Given the description of an element on the screen output the (x, y) to click on. 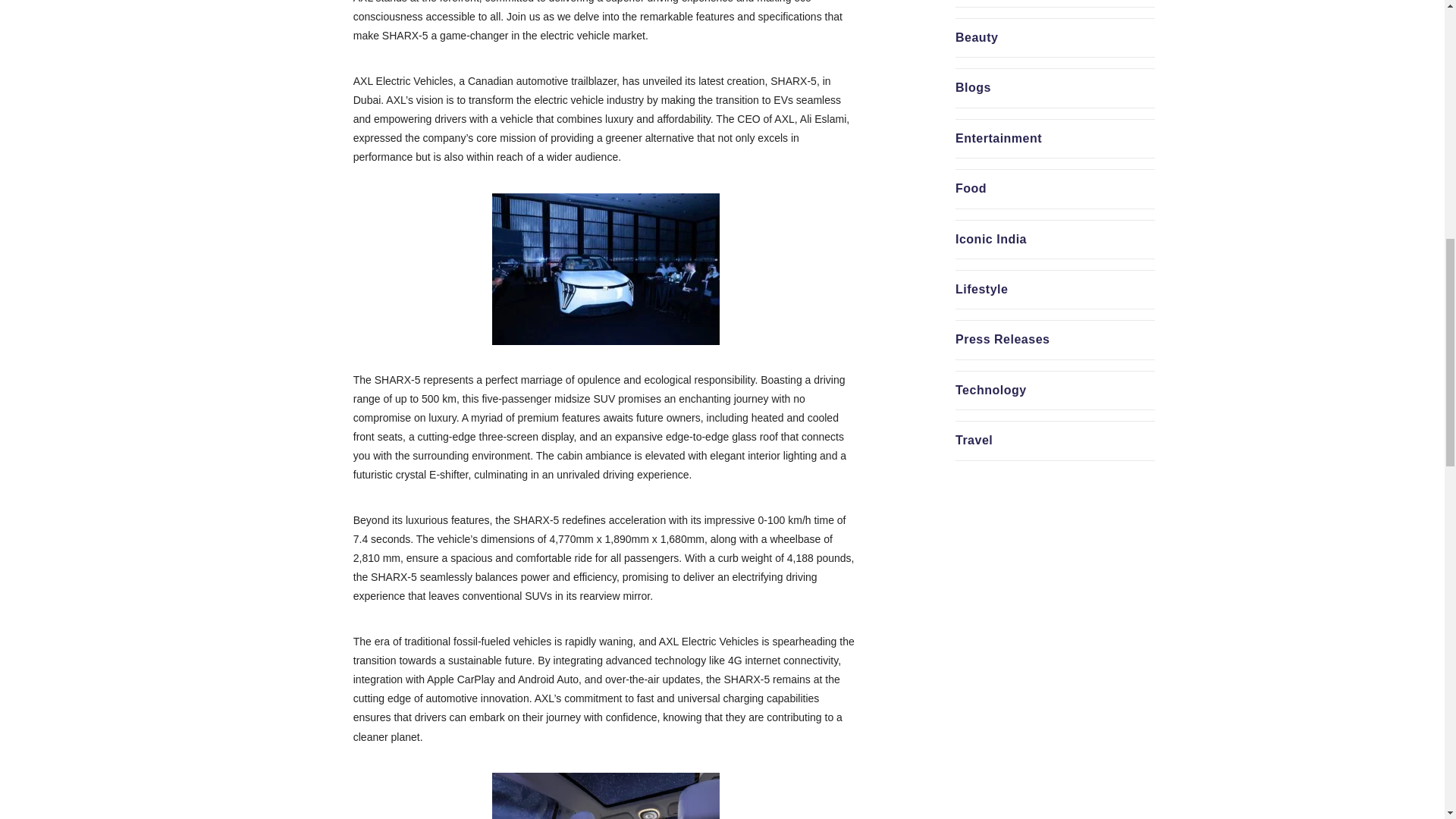
Press Releases (1002, 338)
Blogs (973, 87)
Entertainment (998, 137)
Lifestyle (981, 288)
Food (971, 187)
Technology (990, 390)
Beauty (976, 37)
Travel (973, 440)
Iconic India (990, 238)
